Given the description of an element on the screen output the (x, y) to click on. 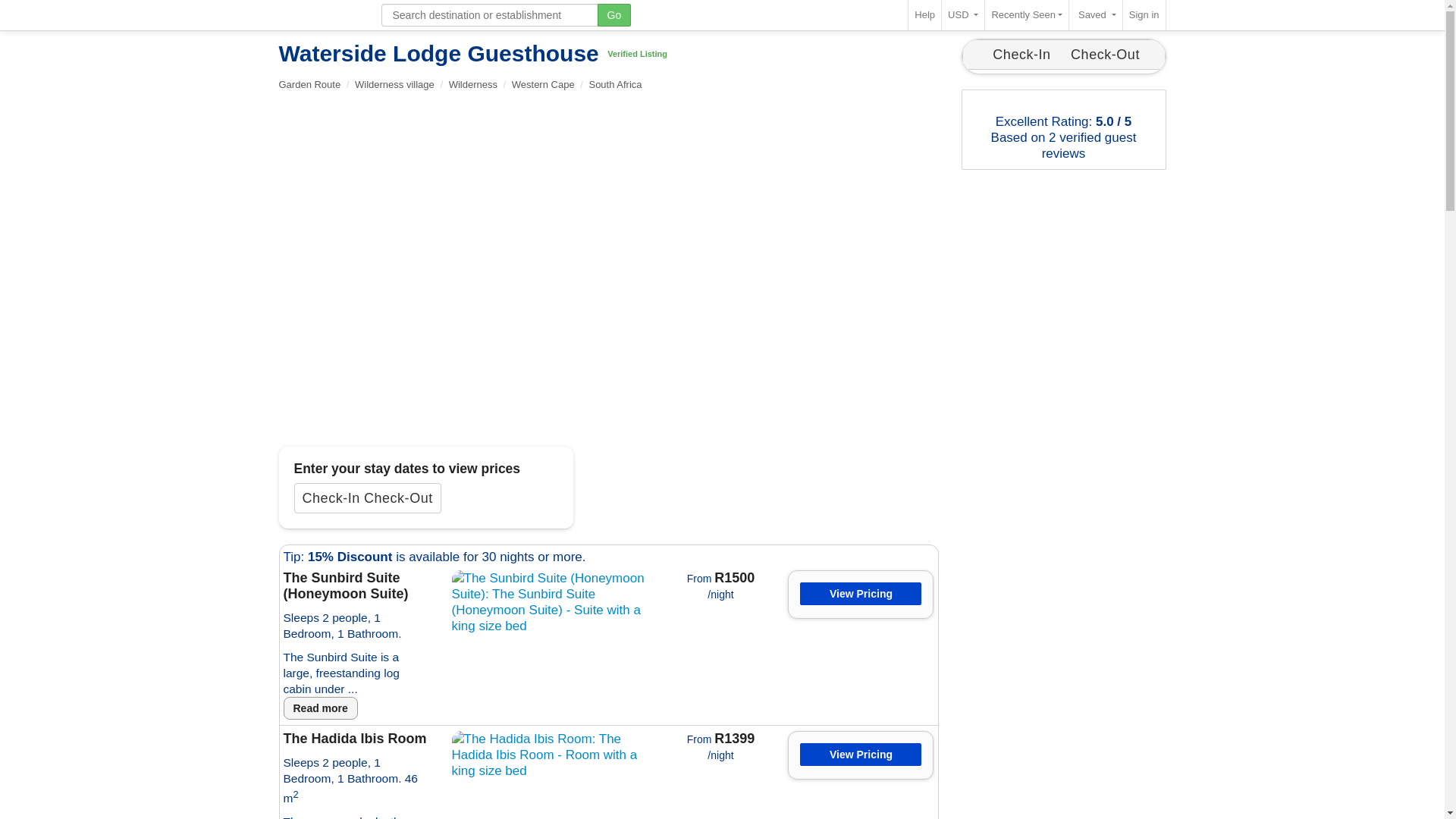
Recently Seen (1026, 15)
Go (613, 15)
 Saved (1094, 15)
Garden Route (309, 84)
Wilderness village (394, 84)
Sign in (1144, 15)
Help (923, 15)
USD (963, 15)
